Given the description of an element on the screen output the (x, y) to click on. 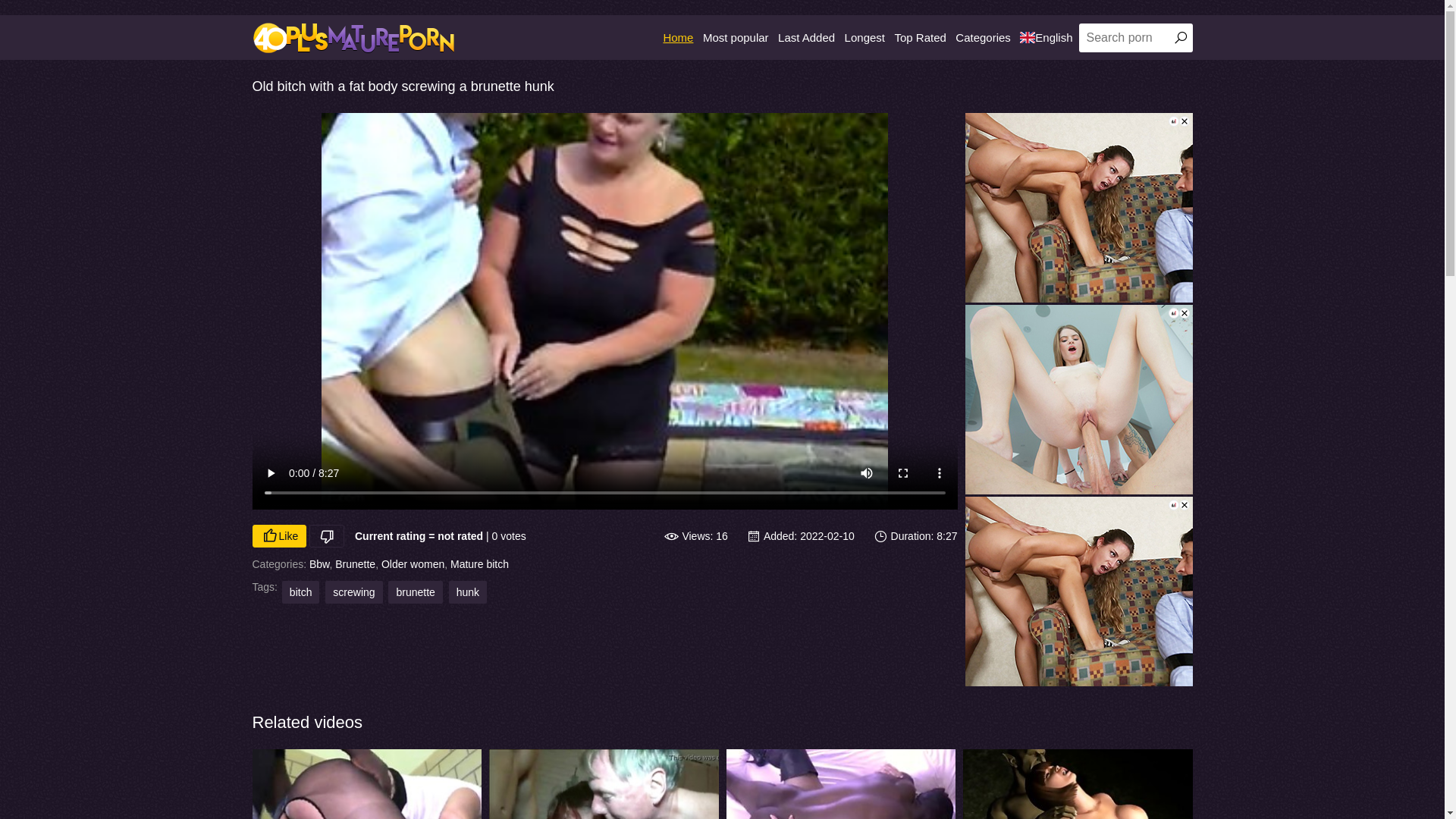
Older women Element type: text (412, 564)
English Element type: text (1045, 37)
bitch Element type: text (301, 591)
Home Element type: text (677, 37)
Most popular Element type: text (735, 37)
hunk Element type: text (467, 591)
Brunette Element type: text (355, 564)
Bbw Element type: text (319, 564)
Top Rated Element type: text (919, 37)
Last Added Element type: text (806, 37)
Like Element type: text (278, 535)
screwing Element type: text (353, 591)
Categories Element type: text (982, 37)
Longest Element type: text (864, 37)
Mature bitch Element type: text (479, 564)
brunette Element type: text (415, 591)
